Given the description of an element on the screen output the (x, y) to click on. 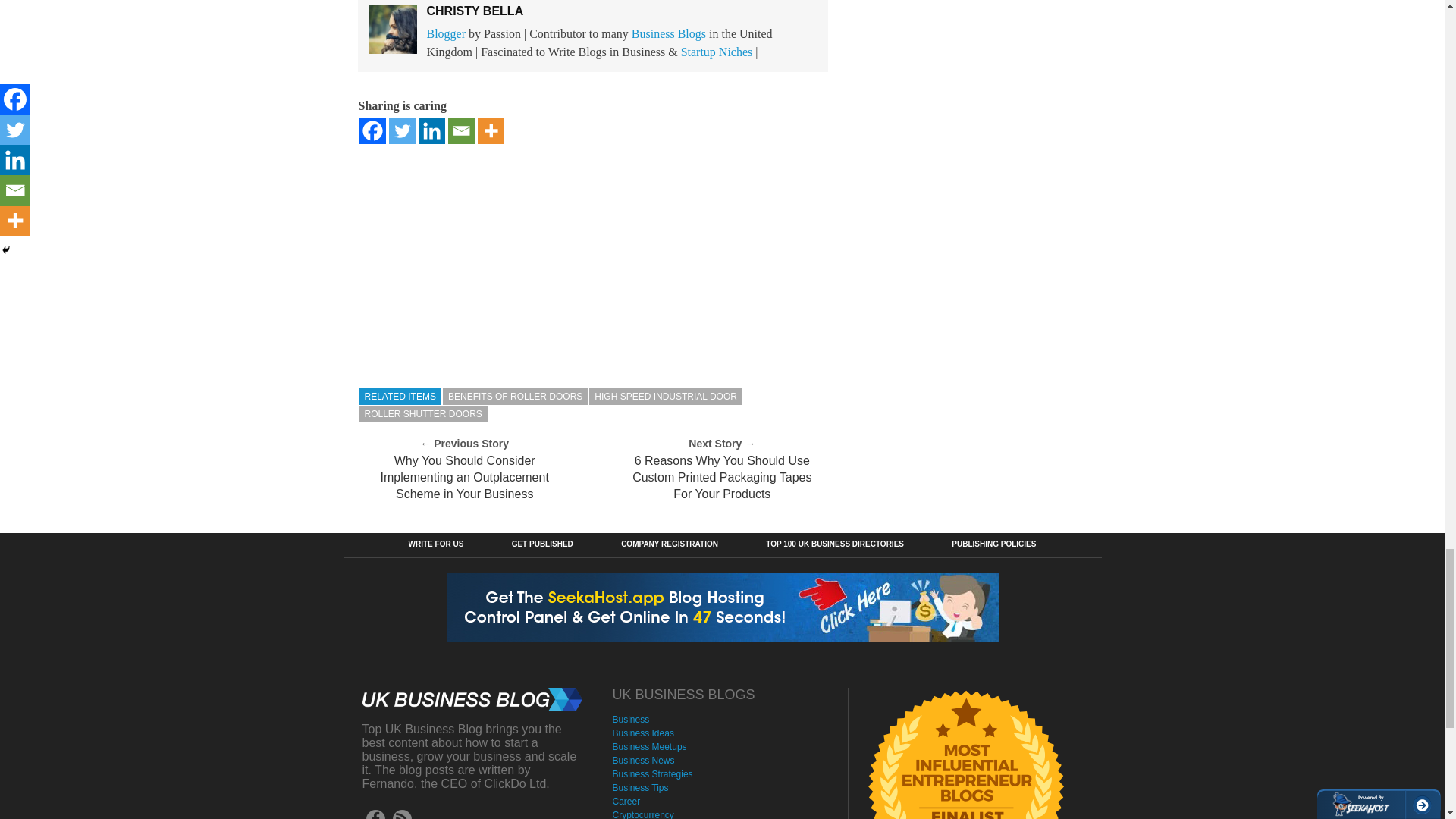
Business Blogs (668, 33)
Twitter (401, 130)
Blogger (445, 33)
Email (461, 130)
Advertisement (593, 259)
More (490, 130)
Linkedin (432, 130)
Startup Niches (716, 51)
Facebook (372, 130)
